Given the description of an element on the screen output the (x, y) to click on. 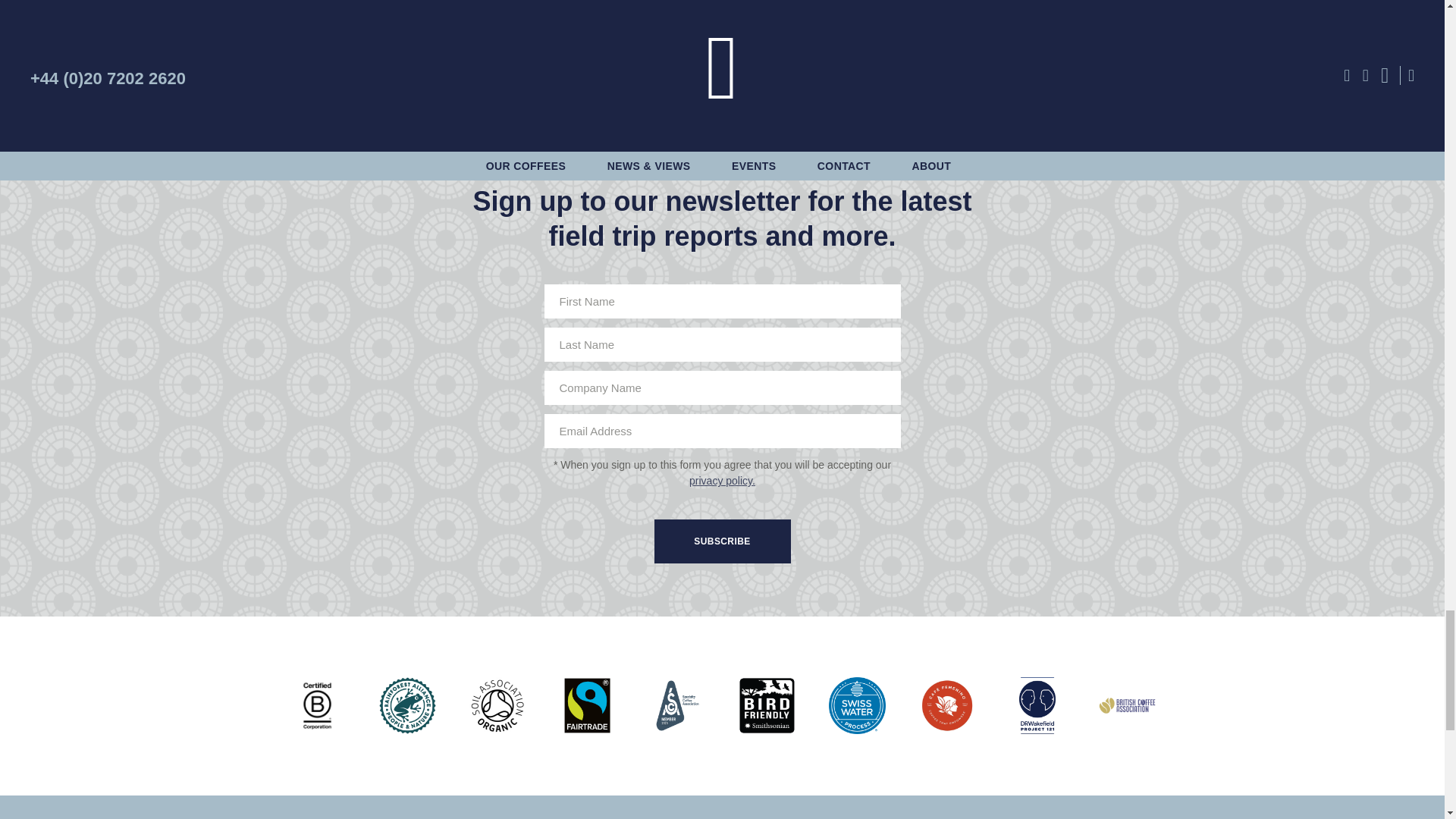
Subscribe (721, 541)
